Given the description of an element on the screen output the (x, y) to click on. 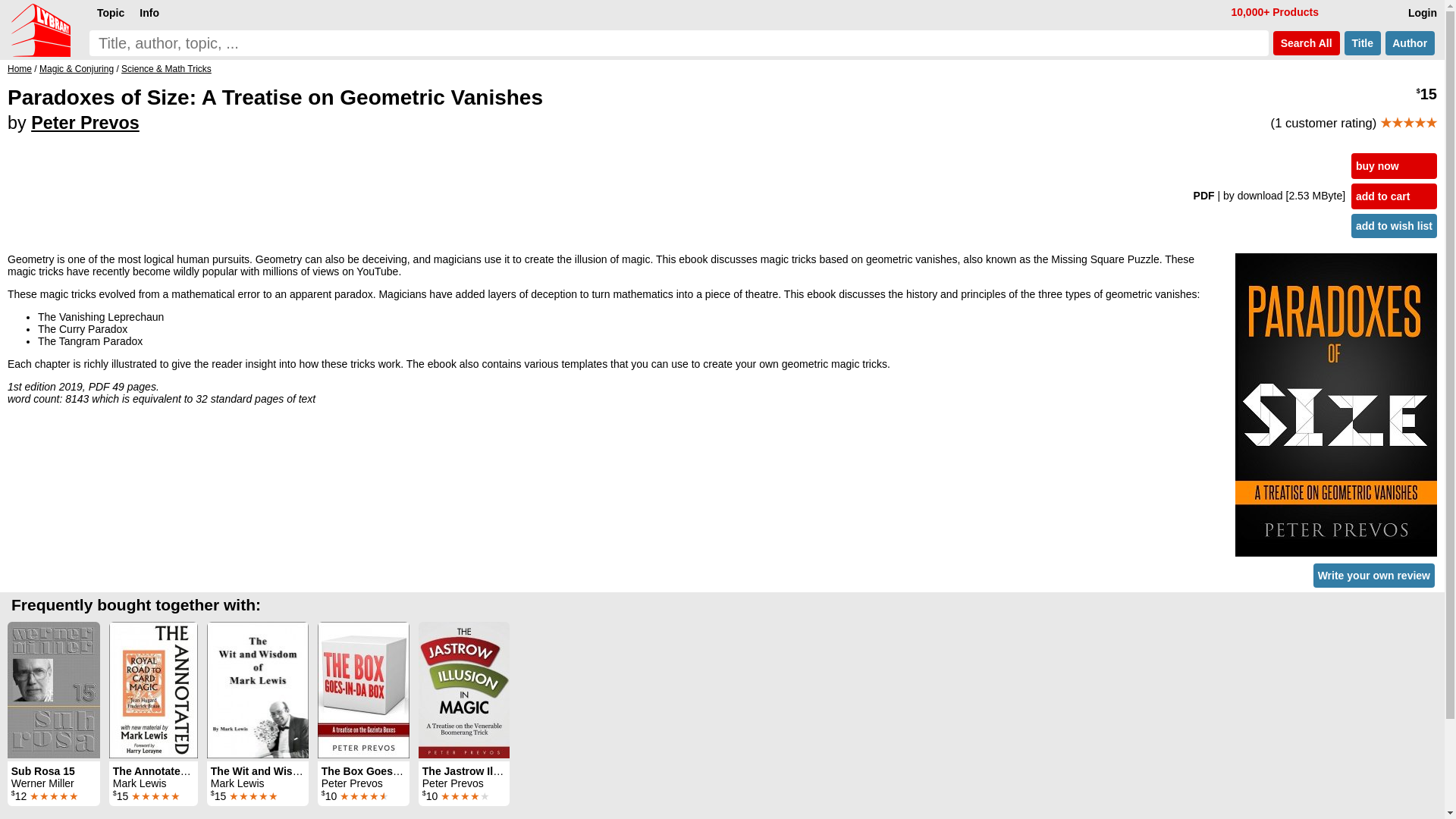
 Author  (1410, 43)
buy now (1394, 166)
Home (19, 68)
 Title  (1361, 43)
 Search All  (1305, 43)
add to wish list (1394, 225)
add to cart (1394, 196)
Peter Prevos (84, 122)
Write your own review (1373, 575)
